Given the description of an element on the screen output the (x, y) to click on. 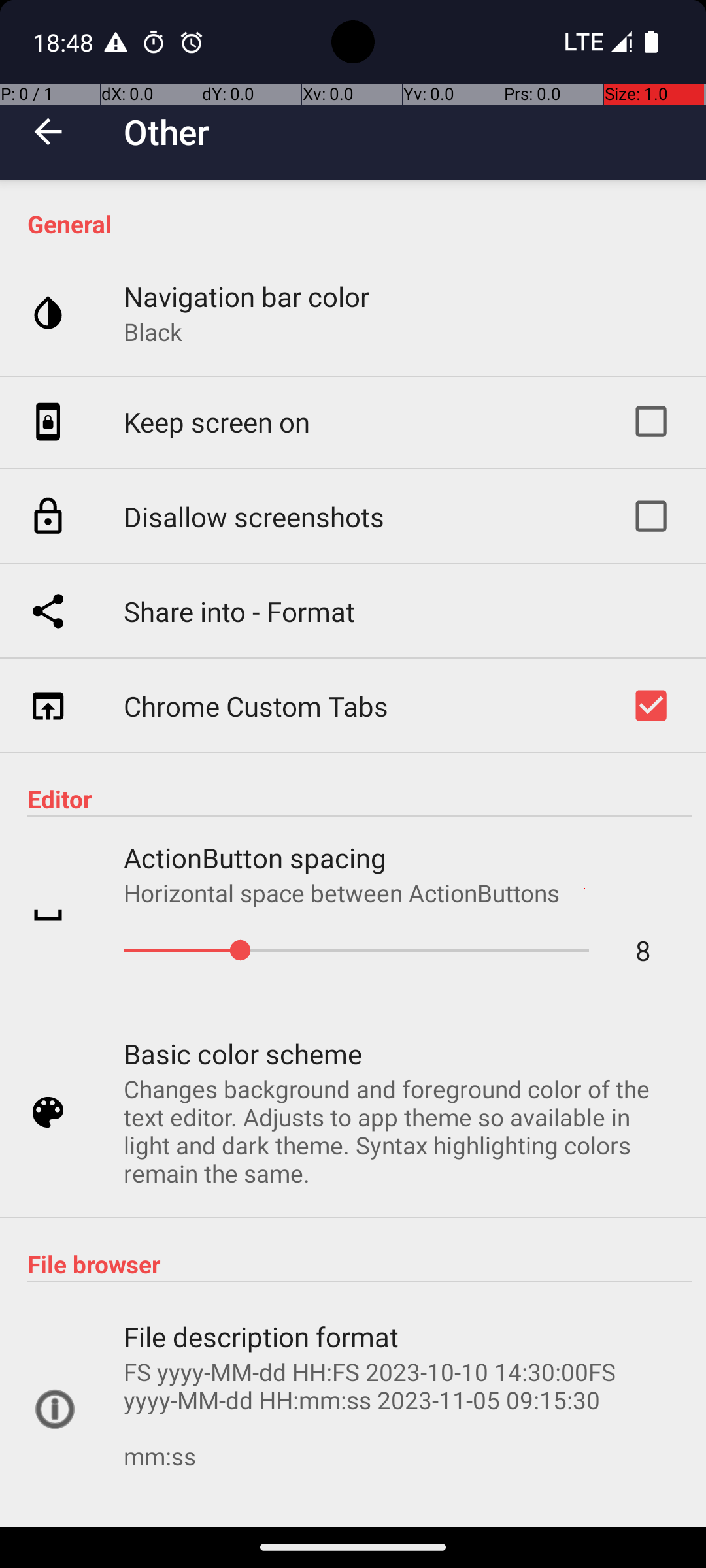
Other Element type: android.widget.TextView (166, 131)
General Element type: android.widget.TextView (359, 223)
Editor Element type: android.widget.TextView (359, 798)
File browser Element type: android.widget.TextView (359, 1263)
Navigation bar color Element type: android.widget.TextView (246, 295)
Black Element type: android.widget.TextView (152, 331)
Keep screen on Element type: android.widget.TextView (216, 421)
Disallow screenshots Element type: android.widget.TextView (253, 516)
Share into - Format Element type: android.widget.TextView (238, 610)
Chrome Custom Tabs Element type: android.widget.TextView (255, 705)
ActionButton spacing Element type: android.widget.TextView (254, 857)
Horizontal space between ActionButtons Element type: android.widget.TextView (341, 892)
Basic color scheme Element type: android.widget.TextView (242, 1053)
Changes background and foreground color of the text editor. Adjusts to app theme so available in light and dark theme. Syntax highlighting colors remain the same. Element type: android.widget.TextView (400, 1130)
File description format Element type: android.widget.TextView (260, 1336)
FS yyyy-MM-dd HH:FS 2023-10-10 14:30:00FS yyyy-MM-dd HH:mm:ss 2023-11-05 09:15:30

mm:ss
 Element type: android.widget.TextView (400, 1427)
18:48 Element type: android.widget.TextView (64, 41)
Clock notification: Upcoming alarm Element type: android.widget.ImageView (191, 41)
